Given the description of an element on the screen output the (x, y) to click on. 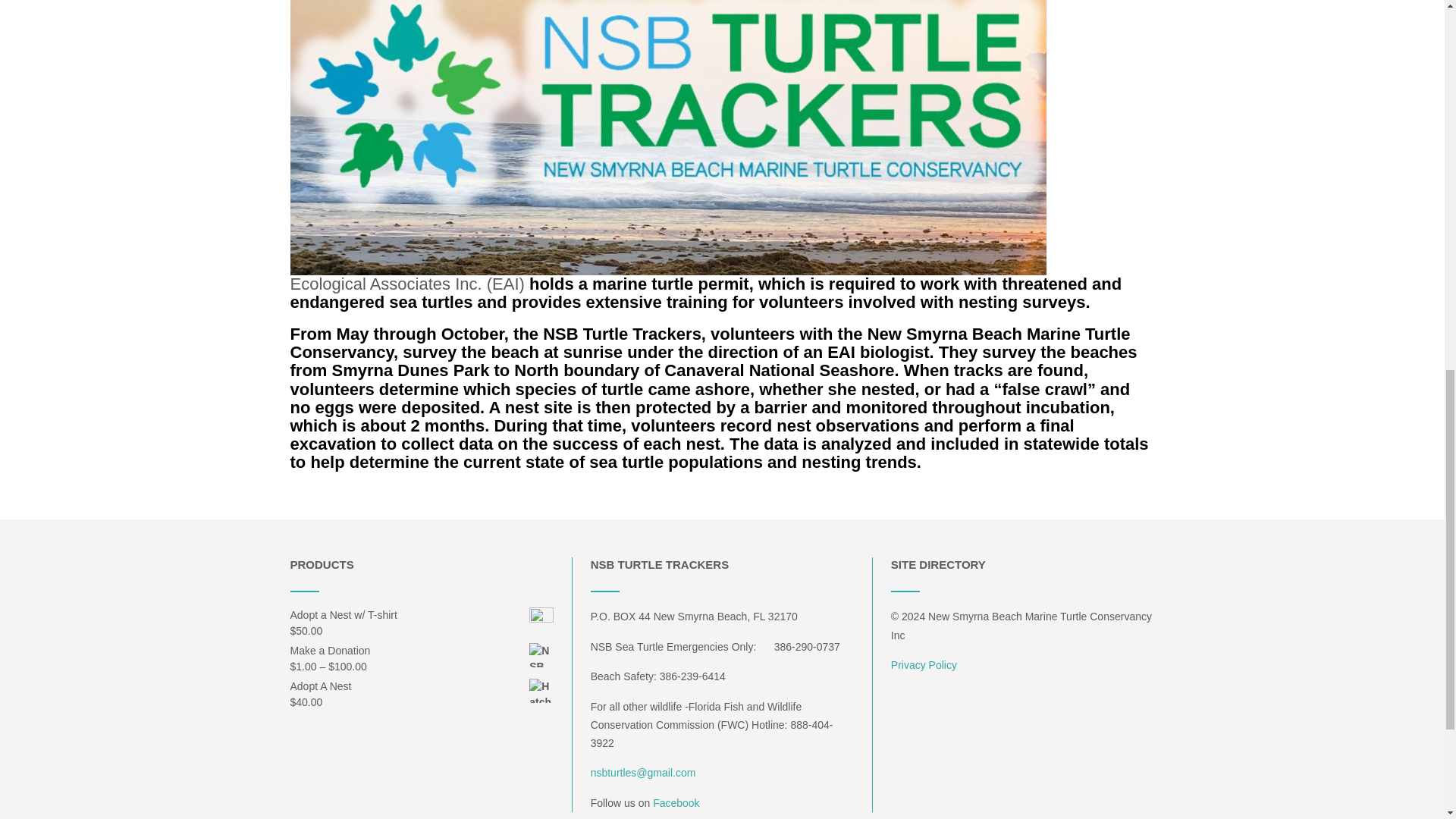
Adopt A Nest (421, 686)
Facebook (675, 802)
Privacy Policy (923, 664)
Make a Donation (421, 650)
